Given the description of an element on the screen output the (x, y) to click on. 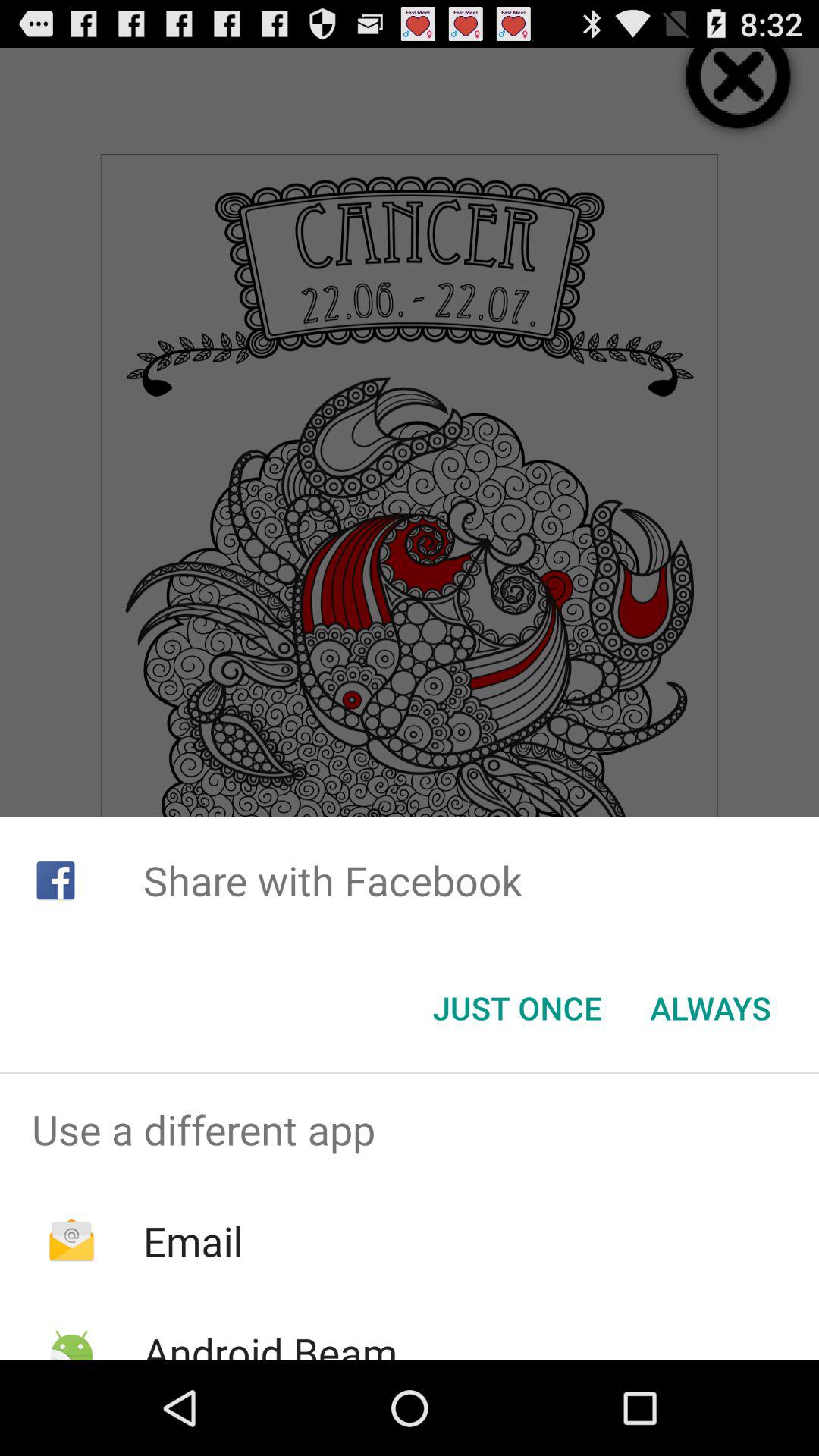
turn on button to the right of the just once button (710, 1007)
